Given the description of an element on the screen output the (x, y) to click on. 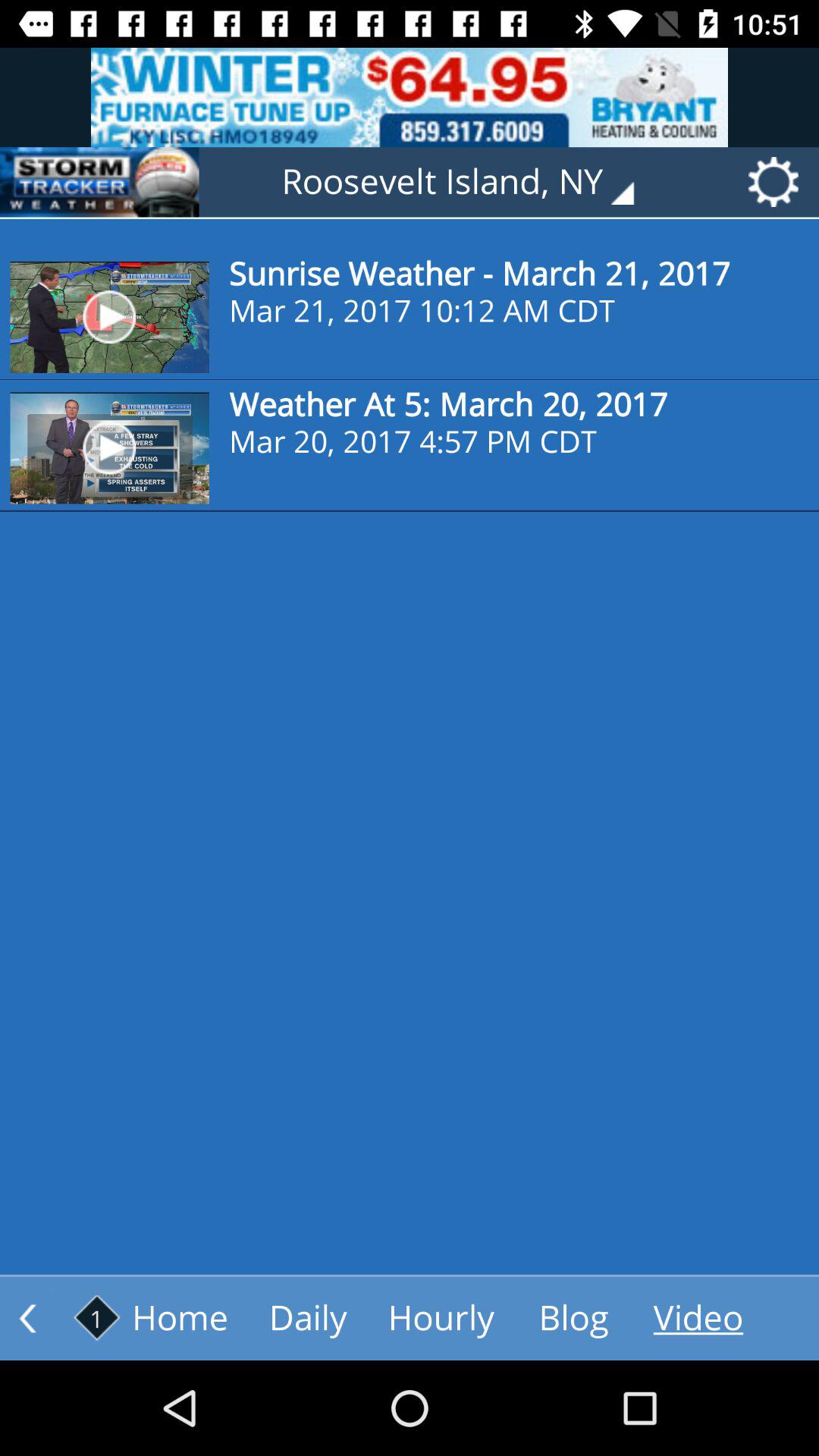
go to previous (27, 1318)
